Given the description of an element on the screen output the (x, y) to click on. 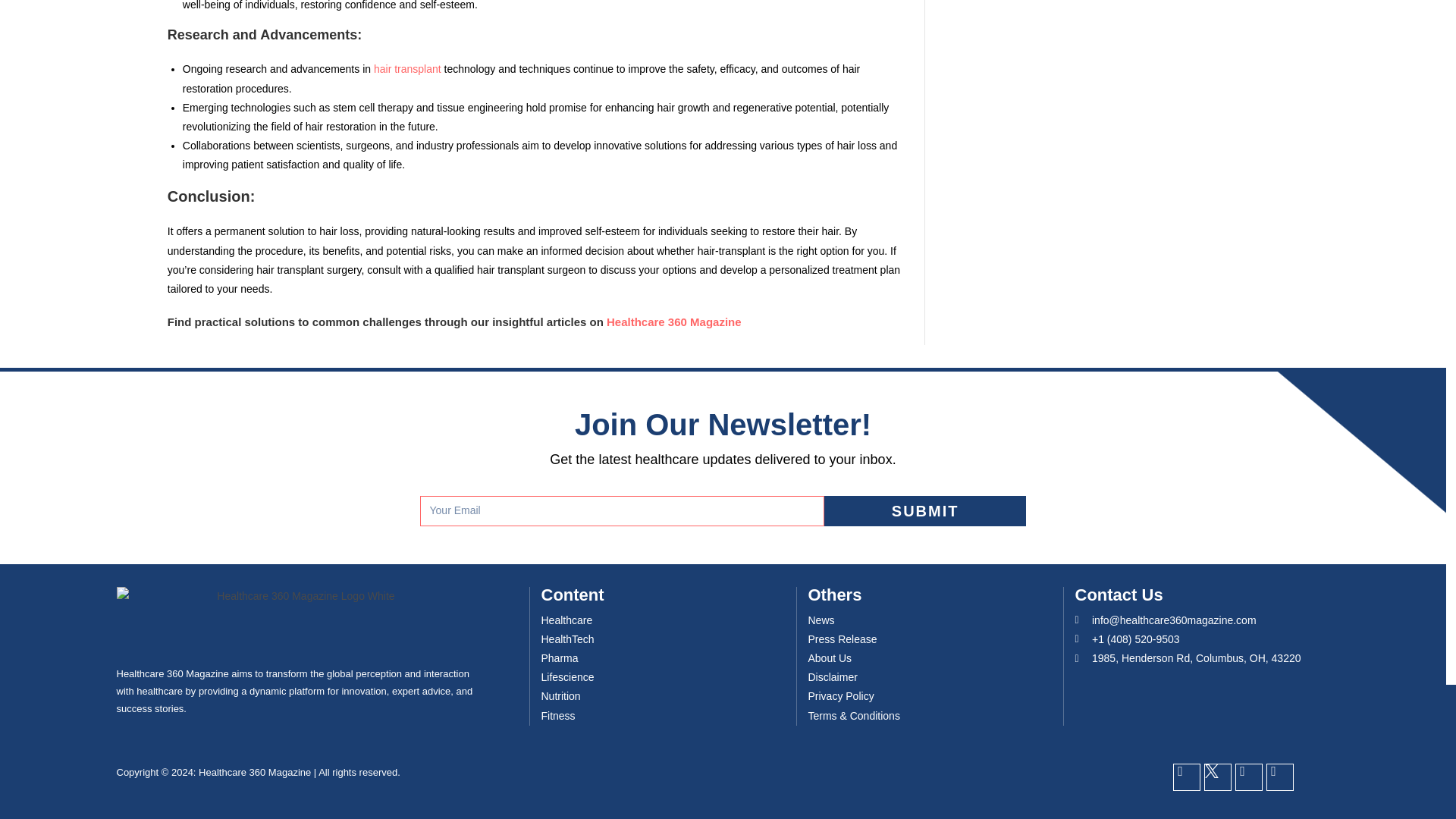
Healthcare 360 Magazine (674, 321)
Pharma (559, 658)
SUBMIT (925, 511)
hair transplant (407, 69)
Healthcare (566, 619)
HealthTech (567, 639)
Lifescience (567, 677)
